Given the description of an element on the screen output the (x, y) to click on. 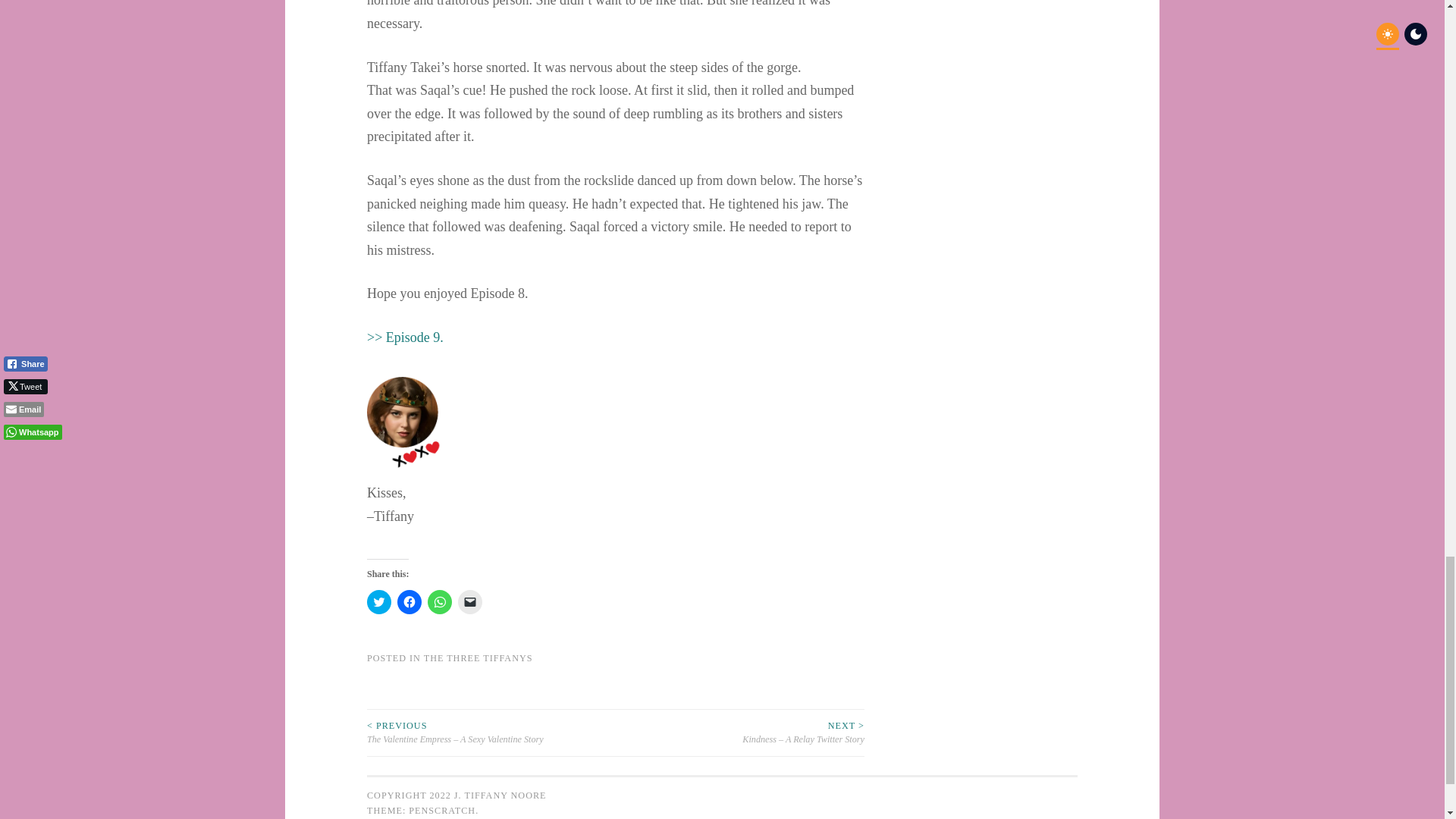
Click to share on Facebook (409, 601)
THE THREE TIFFANYS (477, 657)
Click to share on Twitter (378, 601)
Click to email a link to a friend (469, 601)
Click to share on WhatsApp (439, 601)
